Given the description of an element on the screen output the (x, y) to click on. 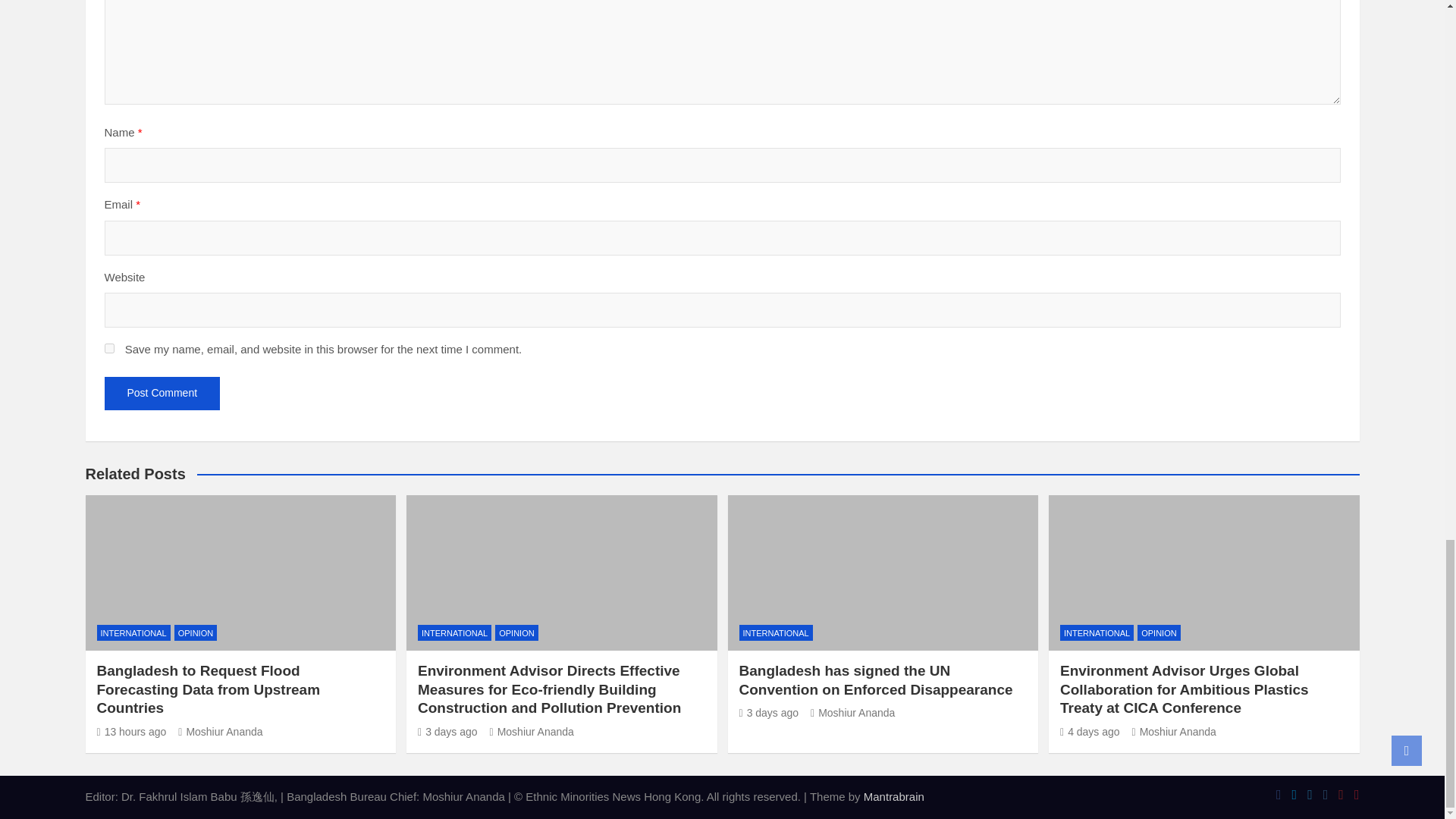
Moshiur Ananda (219, 731)
Mantrabrain (893, 796)
Post Comment (162, 393)
INTERNATIONAL (454, 632)
13 hours ago (132, 731)
yes (109, 347)
INTERNATIONAL (133, 632)
